Given the description of an element on the screen output the (x, y) to click on. 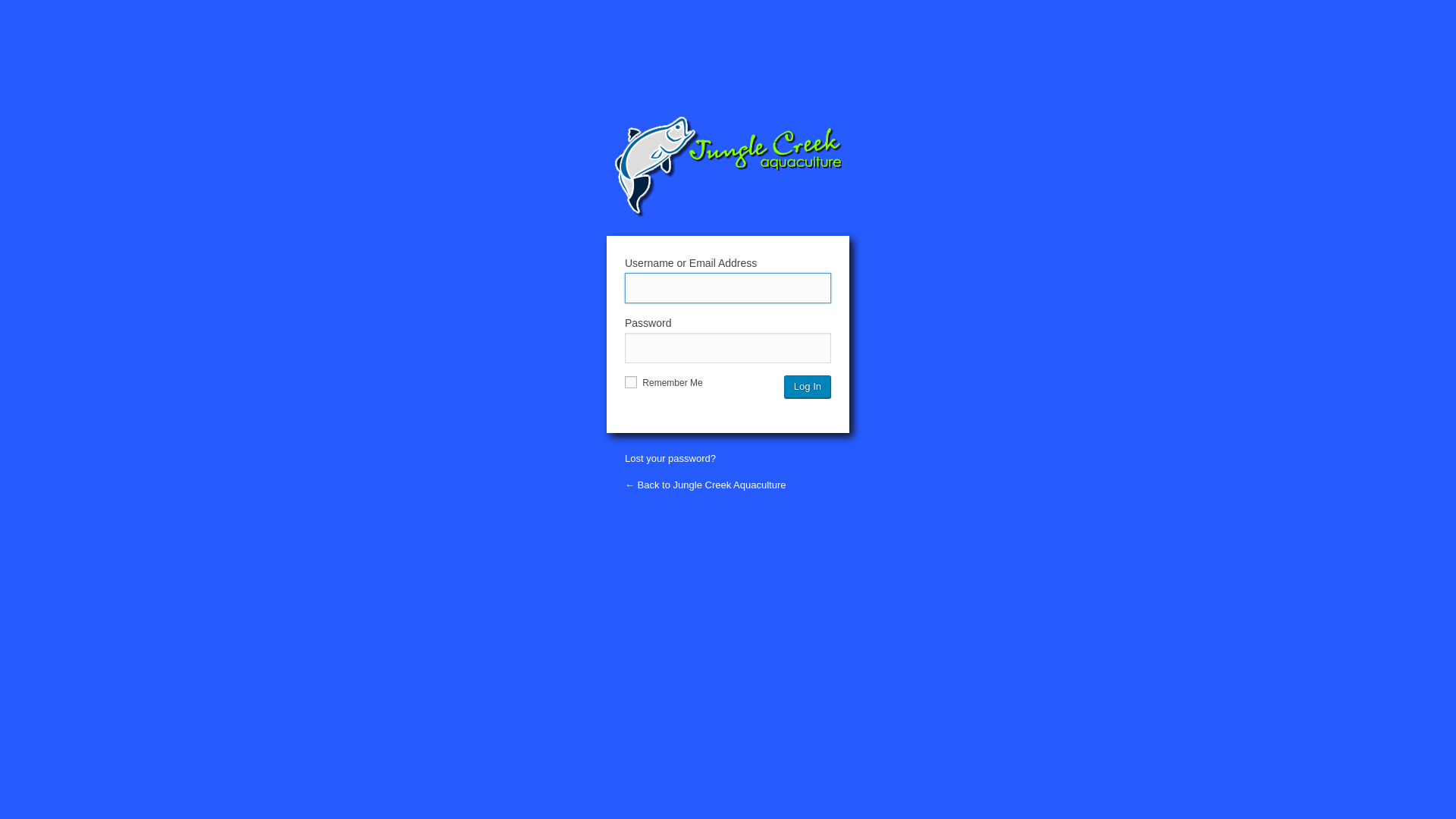
Log In Element type: text (807, 386)
Innisfail, North Queensland Element type: text (727, 166)
Lost your password? Element type: text (669, 458)
